Given the description of an element on the screen output the (x, y) to click on. 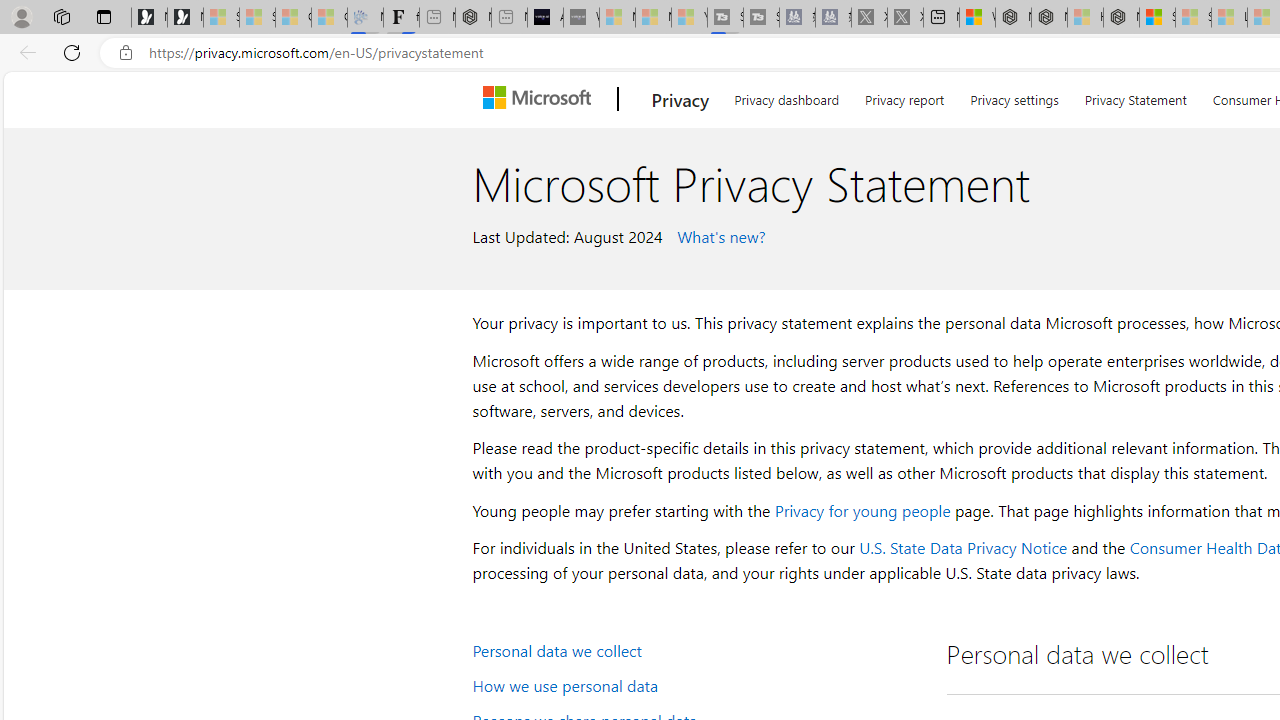
Streaming Coverage | T3 - Sleeping (725, 17)
